Given the description of an element on the screen output the (x, y) to click on. 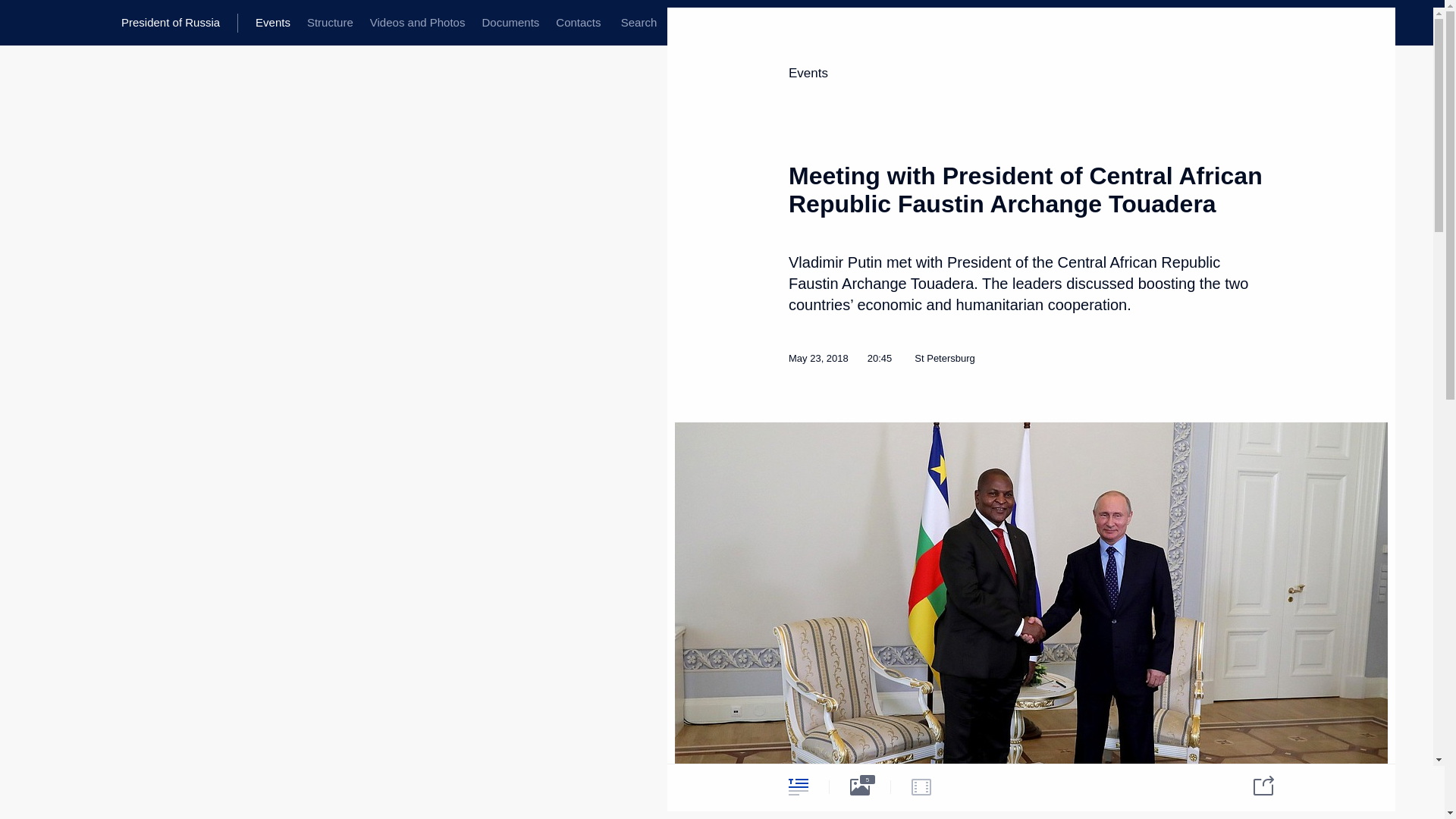
Documents (510, 22)
Contacts (577, 22)
Structure (329, 22)
Videos and Photos (417, 22)
Share (1253, 784)
Global website search (638, 22)
Events (808, 73)
Search (638, 22)
Text (798, 786)
